Given the description of an element on the screen output the (x, y) to click on. 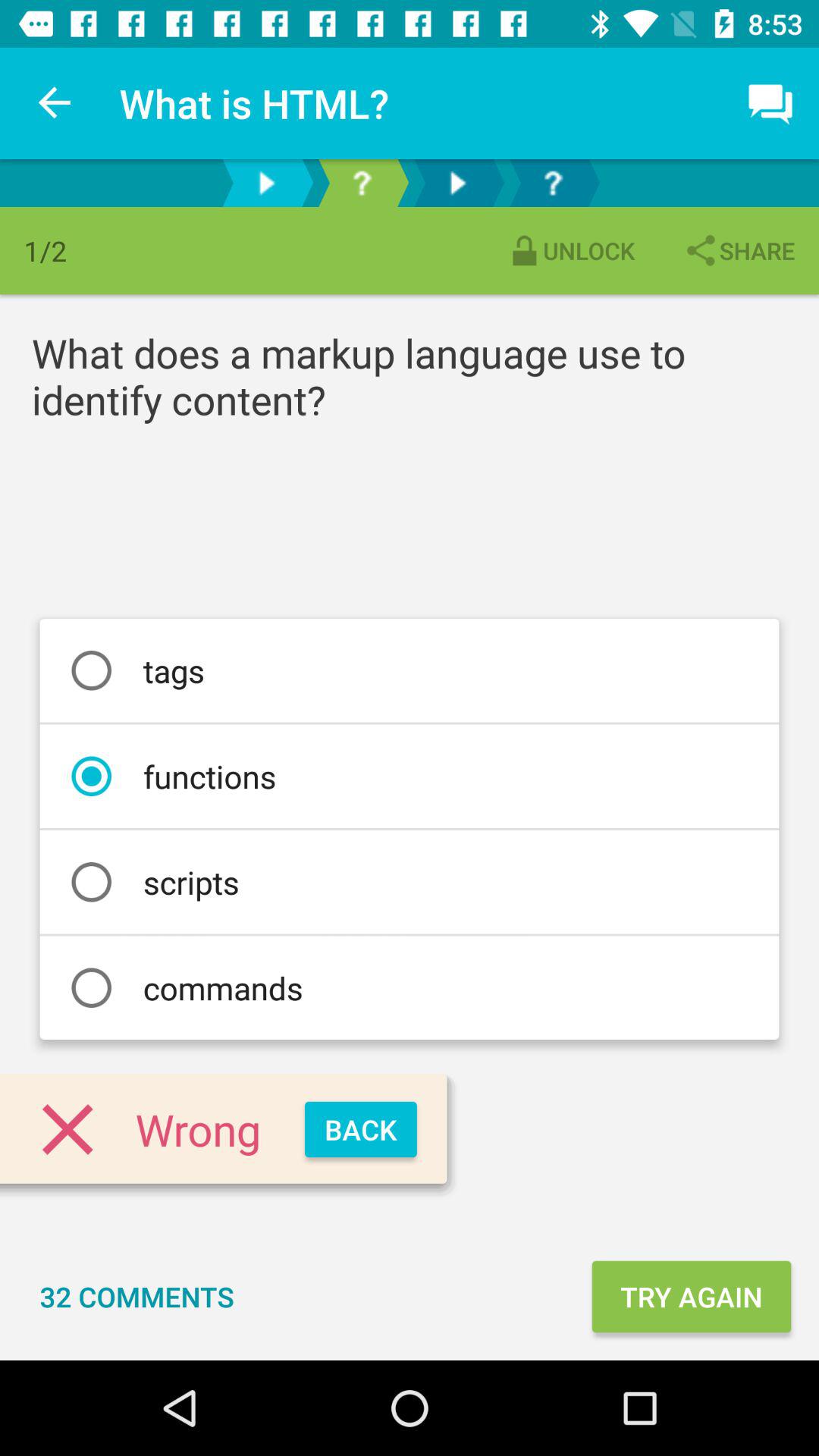
launch item next to the 32 comments (691, 1296)
